Given the description of an element on the screen output the (x, y) to click on. 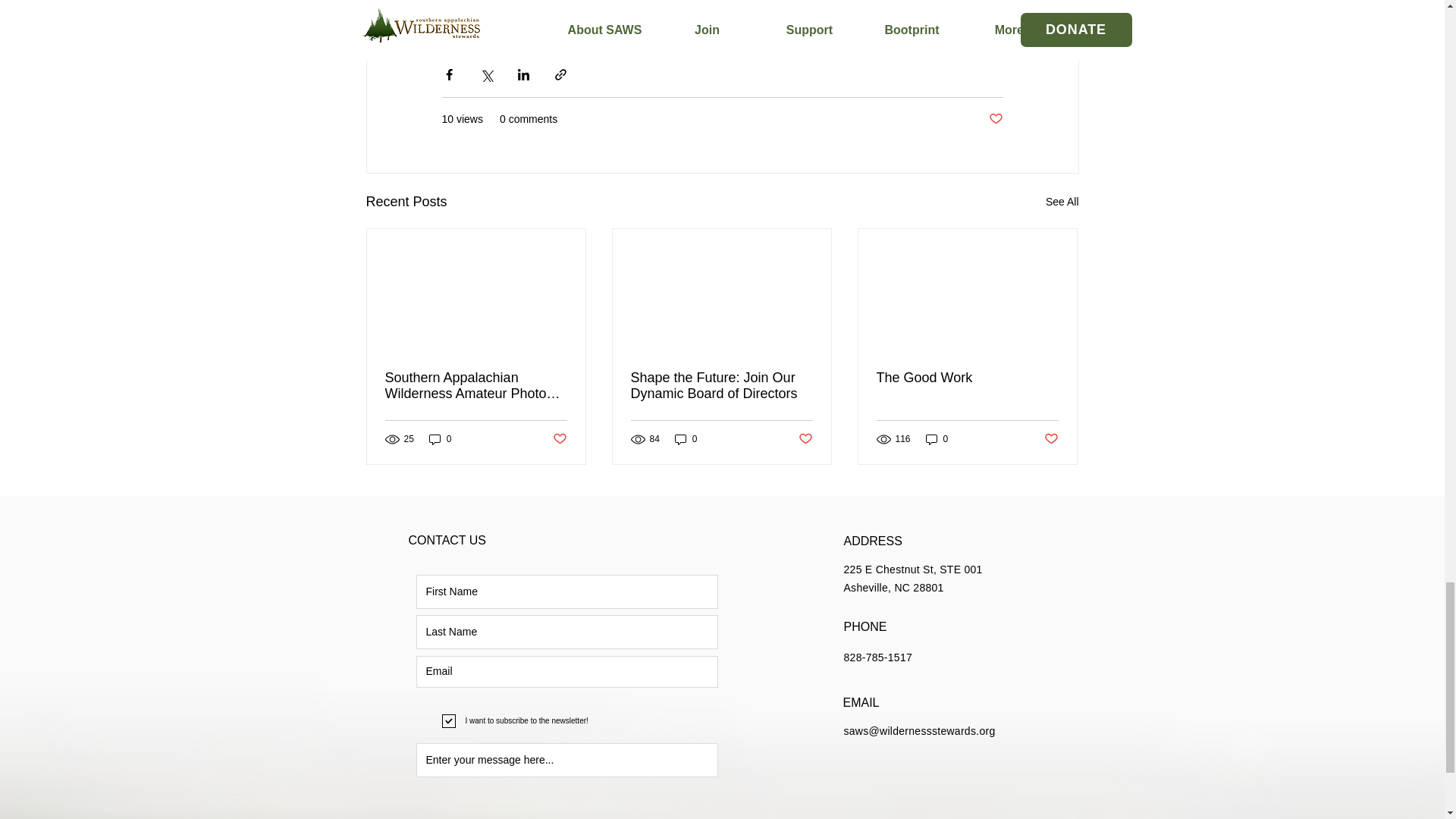
See All (1061, 201)
Post not marked as liked (995, 119)
